Given the description of an element on the screen output the (x, y) to click on. 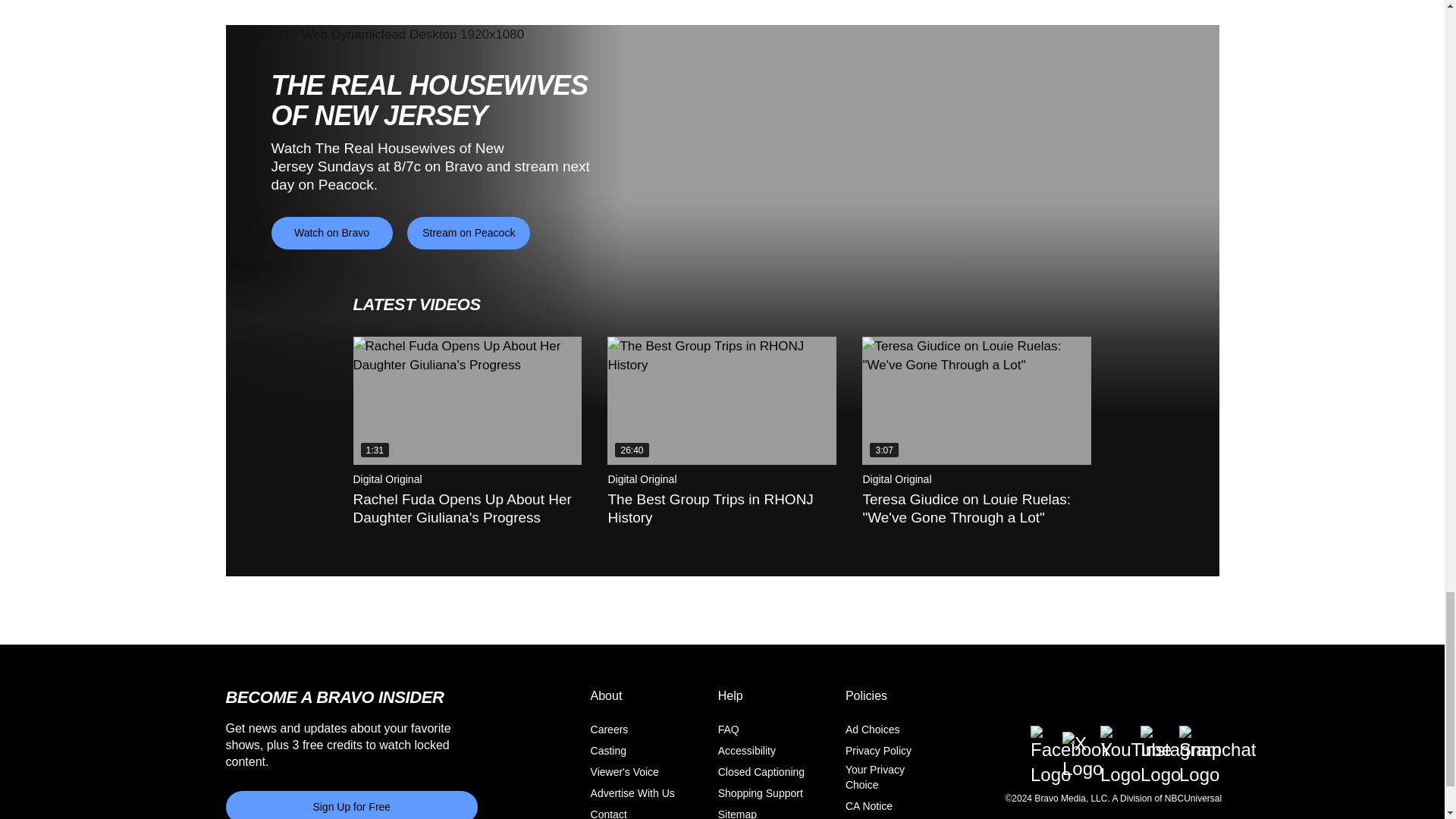
Teresa Giudice on Louie Ruelas: "We've Gone Through a Lot" (975, 401)
The Best Group Trips in RHONJ History (721, 401)
Rachel Fuda Opens Up About Her Daughter Giuliana's Progress (467, 401)
Advertise With Us (633, 793)
